Given the description of an element on the screen output the (x, y) to click on. 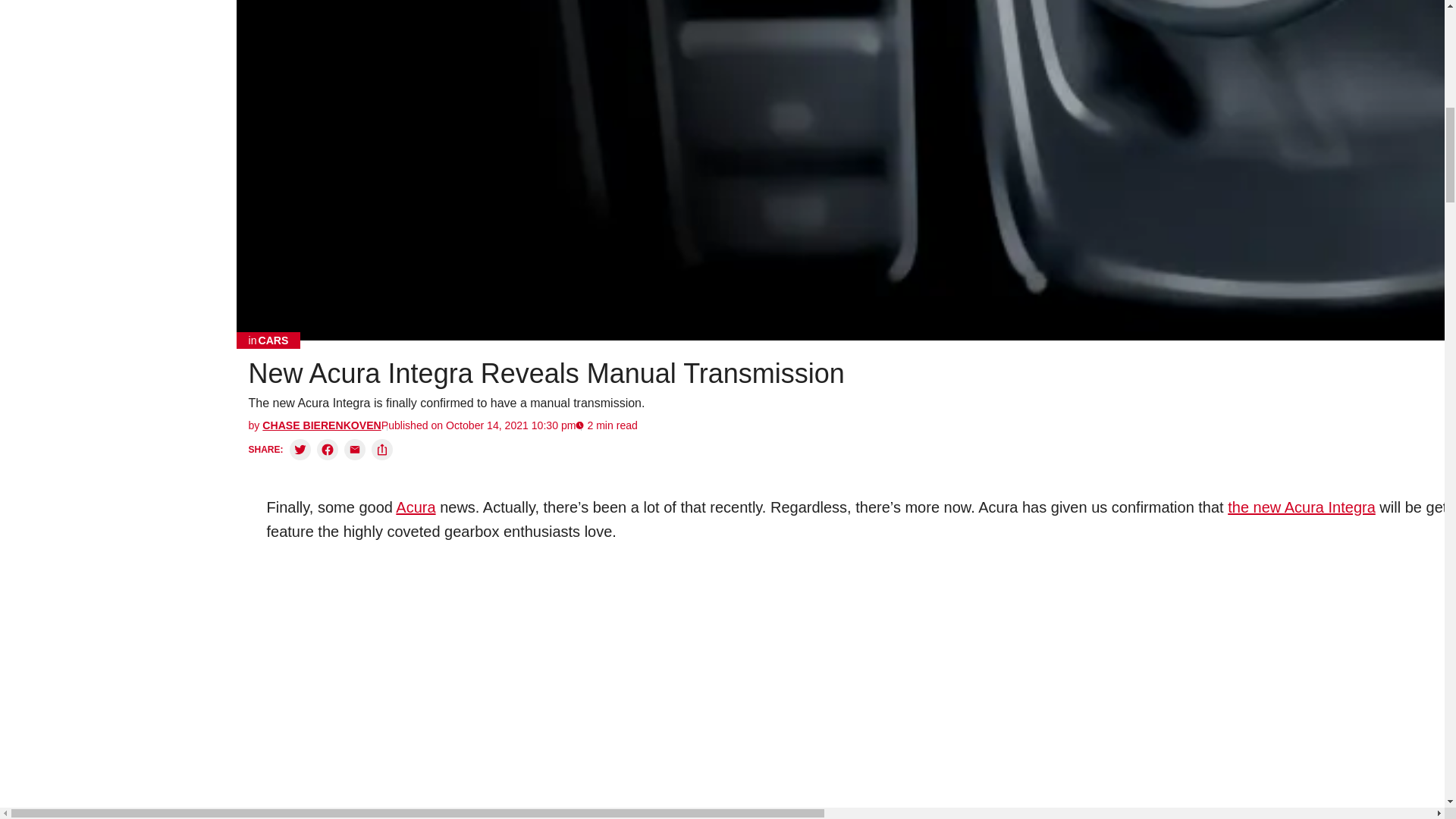
Copy link and share:  (382, 449)
Cars (268, 340)
